Given the description of an element on the screen output the (x, y) to click on. 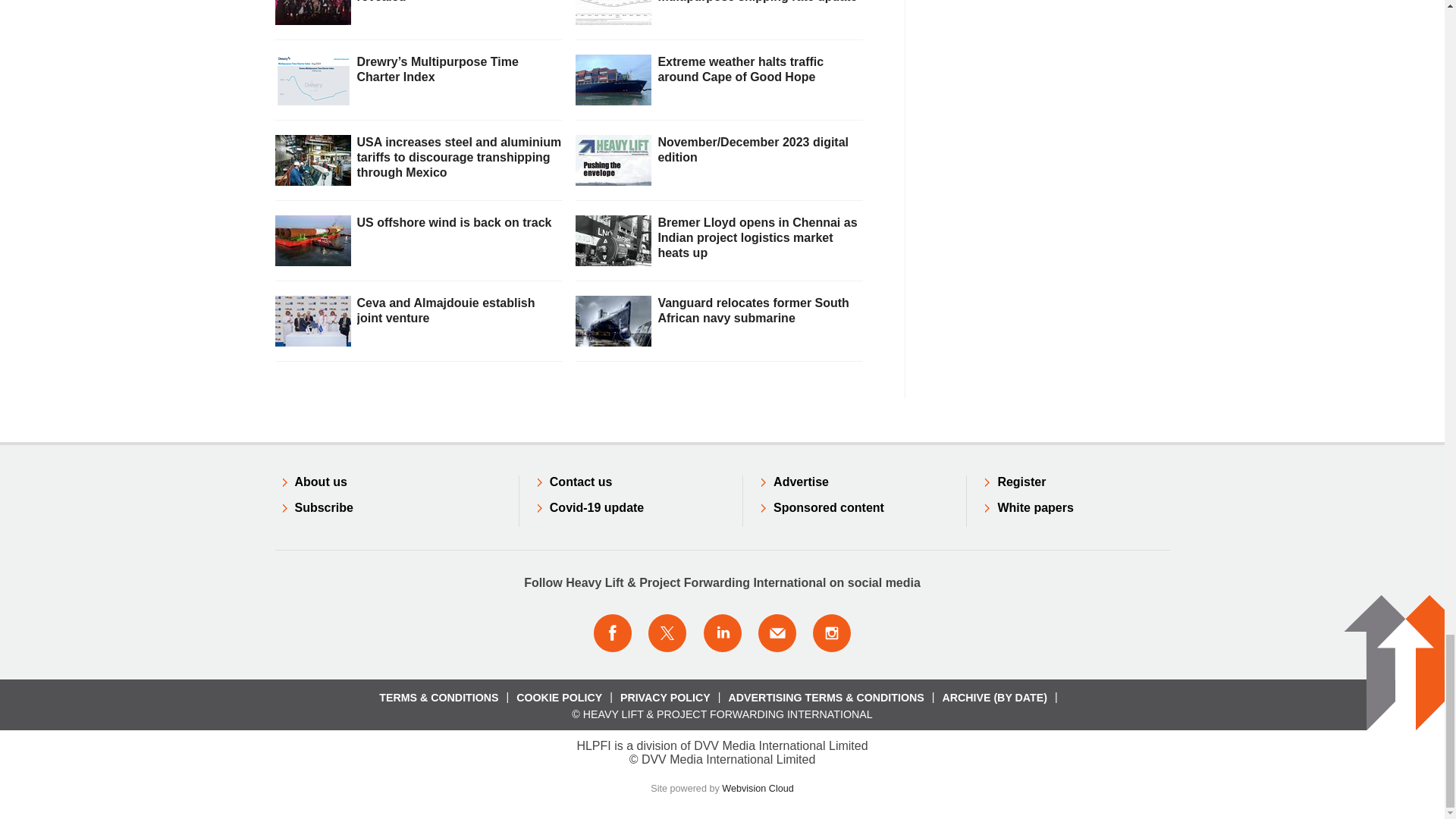
Connect with us on Instagram (831, 632)
Connect with us on Facebook (611, 632)
Connect with us on Twitter (667, 632)
Connect with us on LinkedIn (721, 632)
Email us (776, 632)
